Given the description of an element on the screen output the (x, y) to click on. 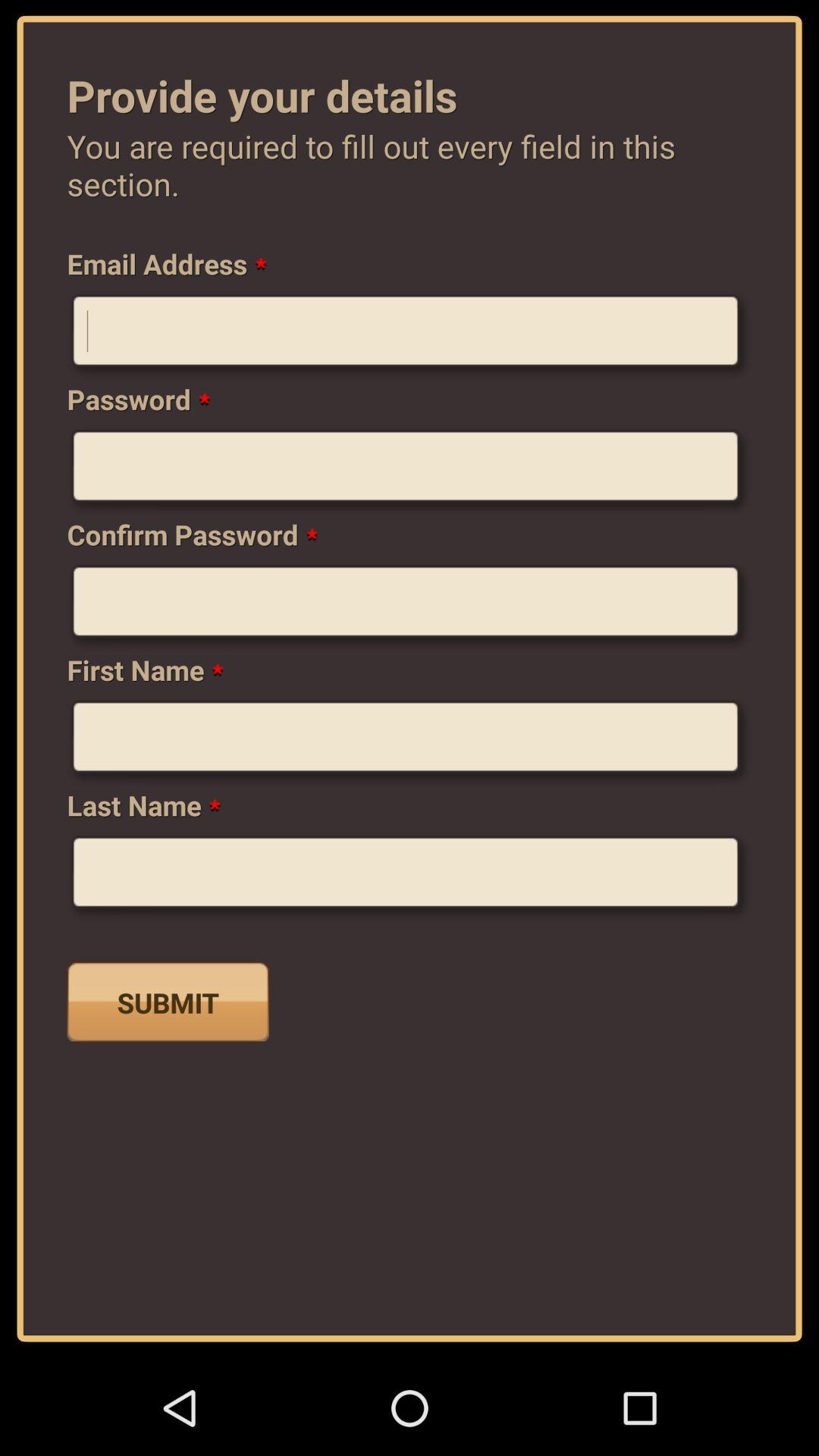
enter last name (409, 877)
